Given the description of an element on the screen output the (x, y) to click on. 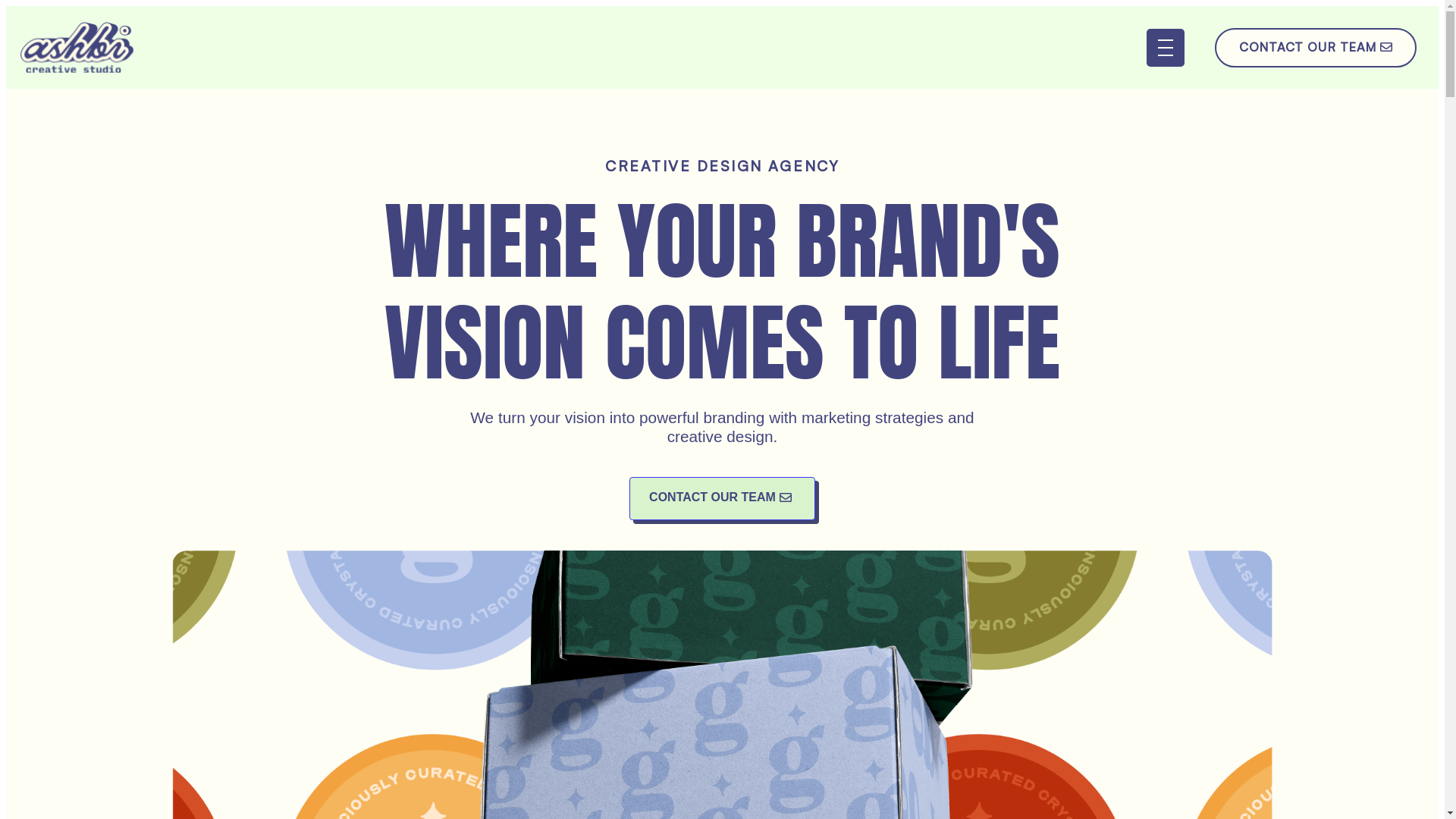
CONTACT OUR TEAM Element type: text (1315, 46)
CONTACT OUR TEAM Element type: text (722, 498)
